Given the description of an element on the screen output the (x, y) to click on. 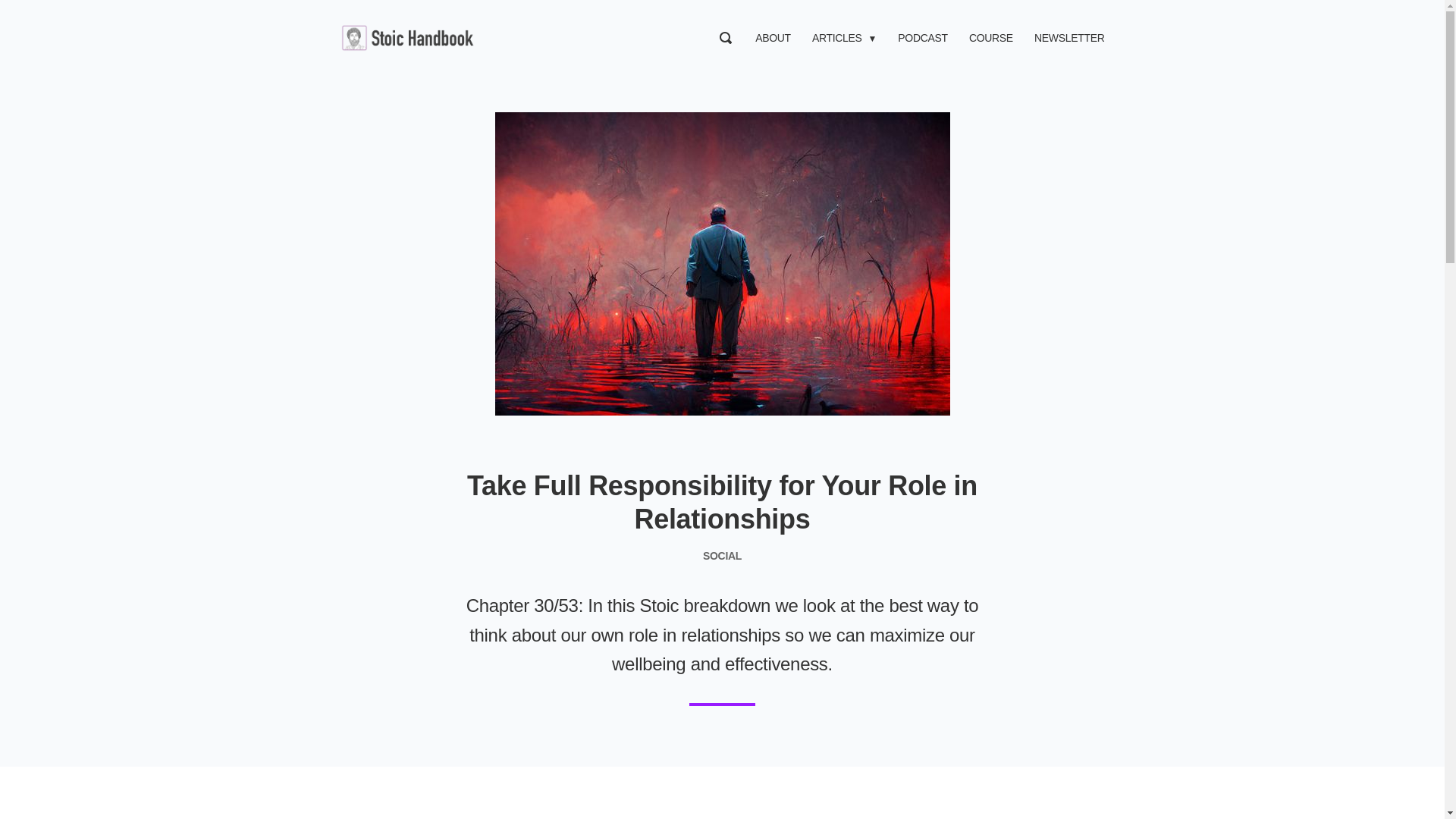
ABOUT (772, 38)
NEWSLETTER (1068, 38)
ARTICLES (836, 38)
PODCAST (922, 38)
COURSE (991, 38)
